Given the description of an element on the screen output the (x, y) to click on. 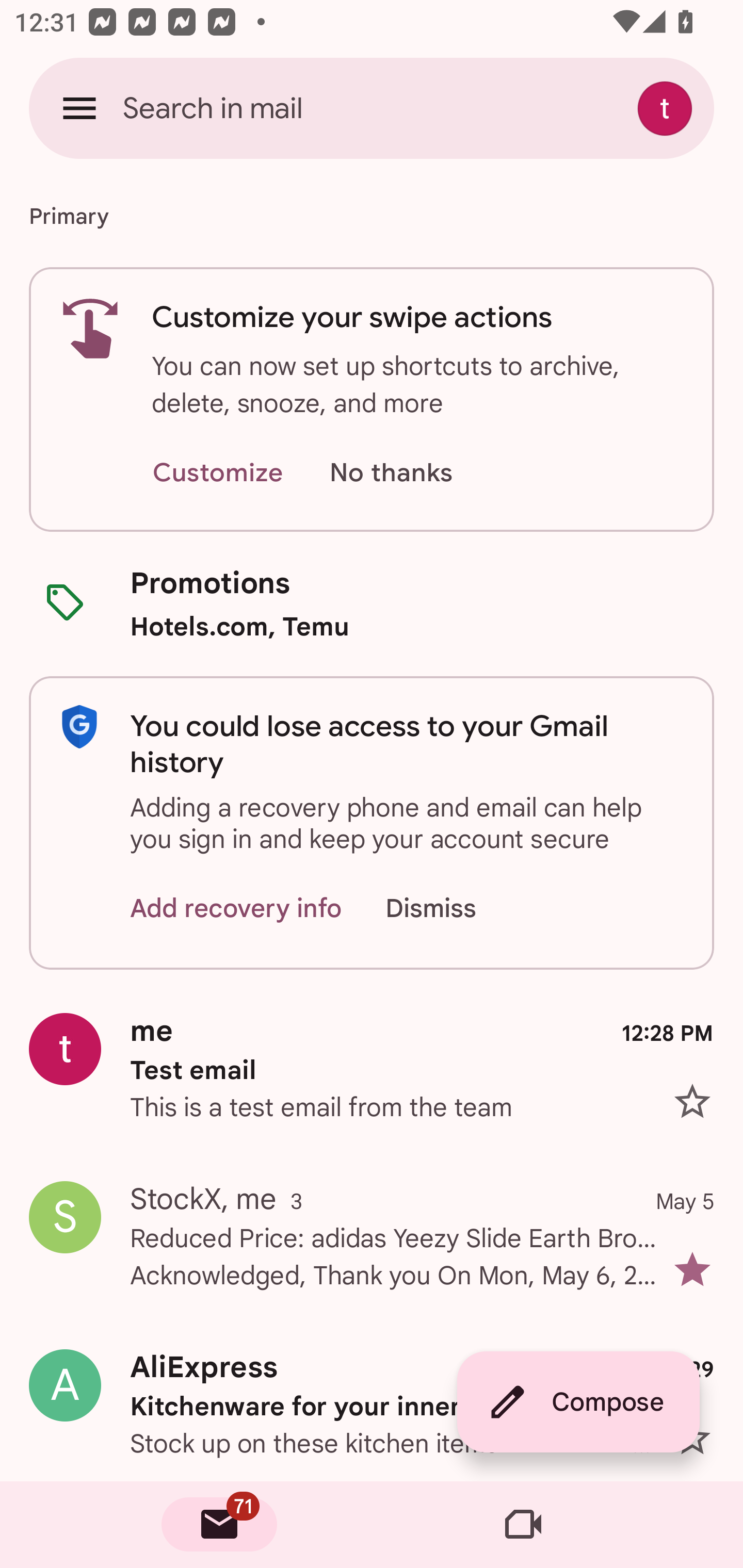
Open navigation drawer (79, 108)
Customize (217, 473)
No thanks (390, 473)
Promotions Hotels.com, Temu (371, 603)
Add recovery info (235, 908)
Dismiss (449, 908)
Compose (577, 1401)
Meet (523, 1524)
